Given the description of an element on the screen output the (x, y) to click on. 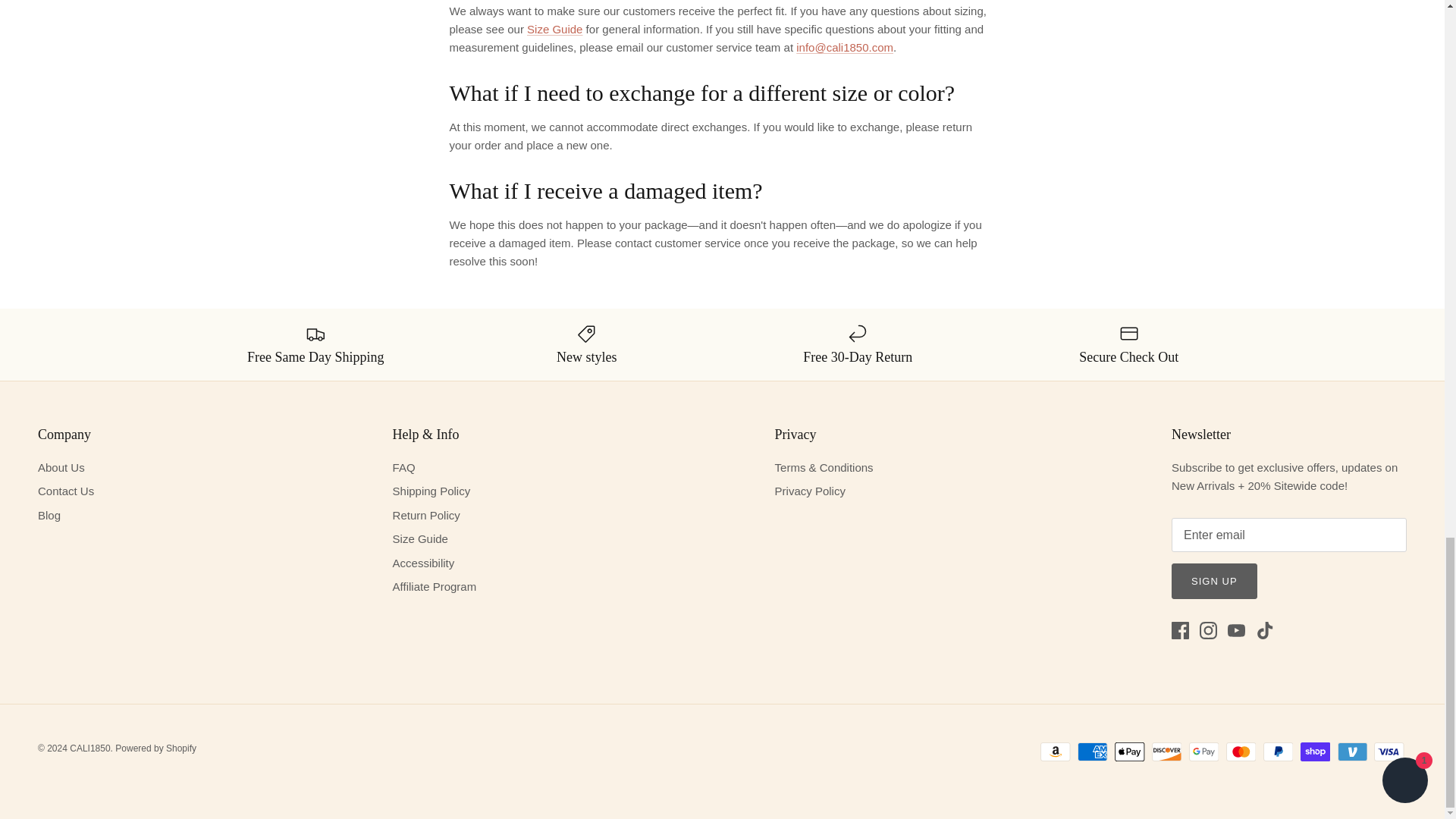
American Express (1092, 751)
Facebook (1180, 630)
Amazon (1055, 751)
Apple Pay (1129, 751)
Youtube (1235, 630)
Instagram (1208, 630)
